Given the description of an element on the screen output the (x, y) to click on. 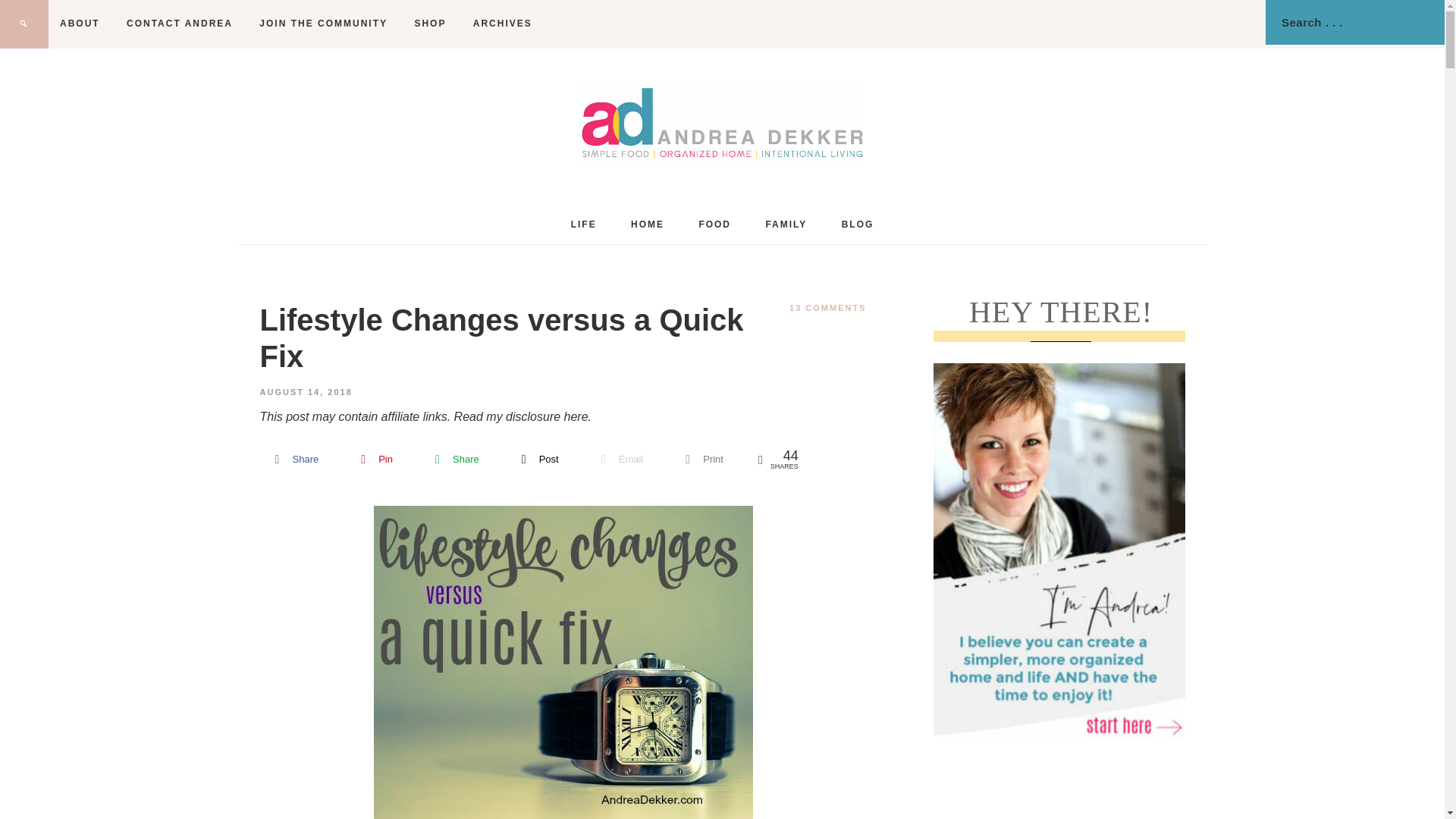
LIFE (583, 224)
BLOG (858, 224)
13 COMMENTS (827, 307)
FAMILY (785, 224)
FOOD (713, 224)
SHOP (430, 23)
JOIN THE COMMUNITY (322, 23)
ARCHIVES (502, 23)
